Given the description of an element on the screen output the (x, y) to click on. 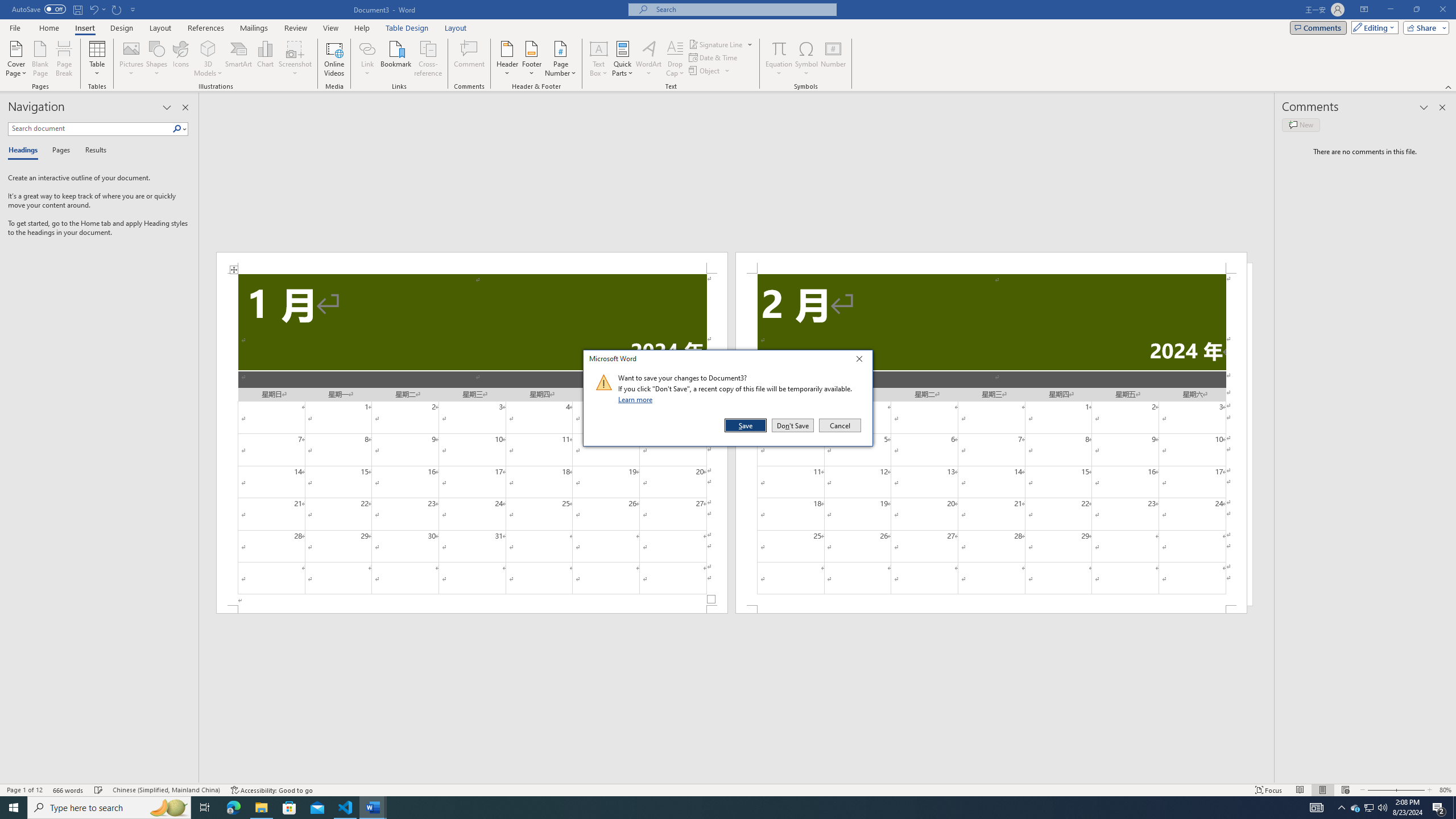
Object... (709, 69)
Icons (180, 58)
Don't Save (792, 425)
